Given the description of an element on the screen output the (x, y) to click on. 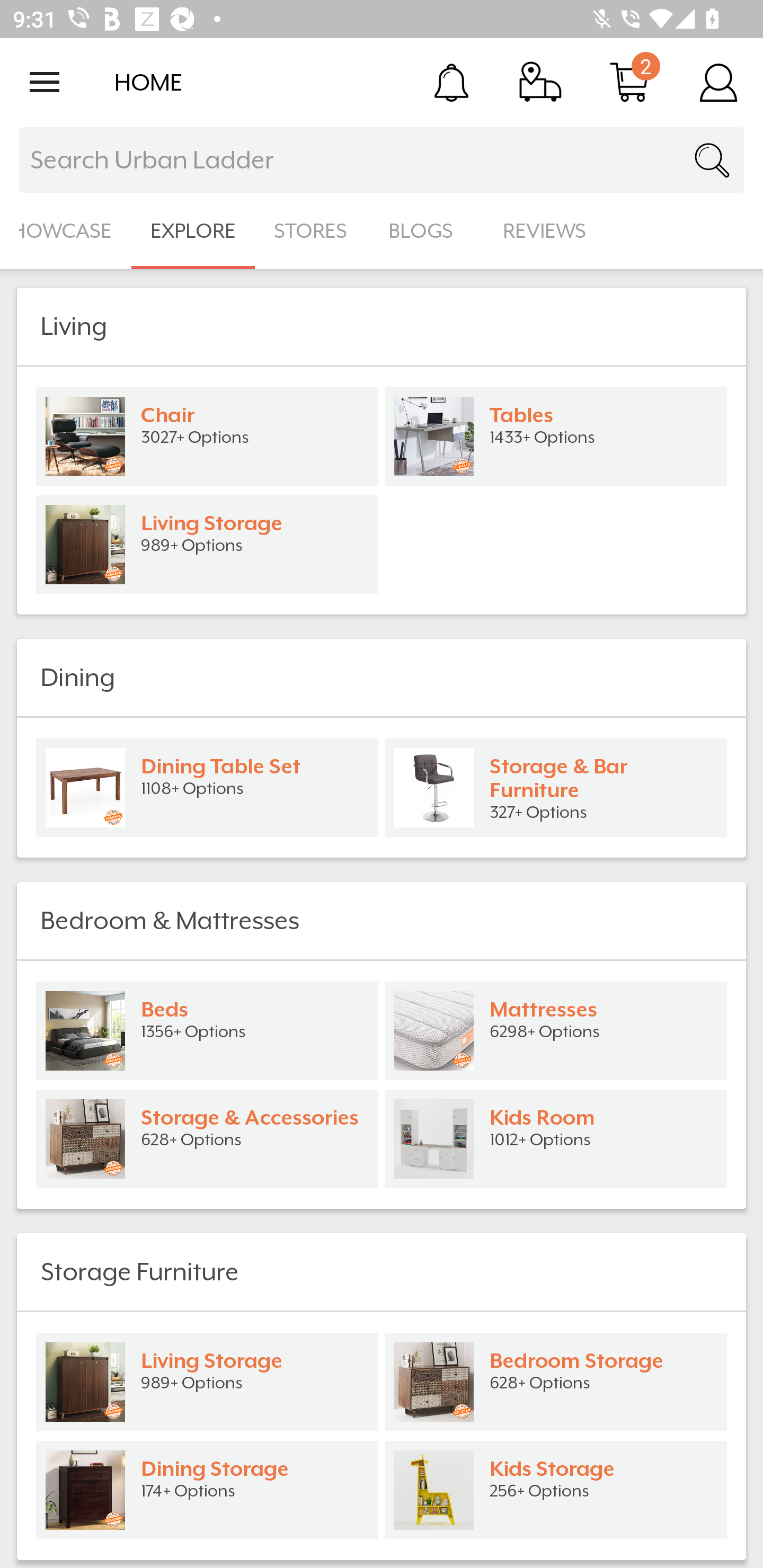
Open navigation drawer (44, 82)
Notification (450, 81)
Track Order (540, 81)
Cart (629, 81)
Account Details (718, 81)
Search Urban Ladder  (381, 159)
SHOWCASE (65, 230)
EXPLORE (192, 230)
STORES (311, 230)
BLOGS (426, 230)
REVIEWS (544, 230)
Chair 3027+ Options (206, 436)
Tables 1433+ Options (555, 436)
Living Storage 989+ Options (206, 544)
Dining Table Set 1108+ Options (206, 787)
Storage & Bar Furniture 327+ Options (555, 787)
Beds 1356+ Options (206, 1030)
Mattresses 6298+ Options (555, 1030)
Storage & Accessories 628+ Options (206, 1139)
Kids Room 1012+ Options (555, 1139)
Living Storage 989+ Options (206, 1382)
Bedroom Storage 628+ Options (555, 1382)
Dining Storage 174+ Options (206, 1490)
Kids Storage 256+ Options (555, 1490)
